Given the description of an element on the screen output the (x, y) to click on. 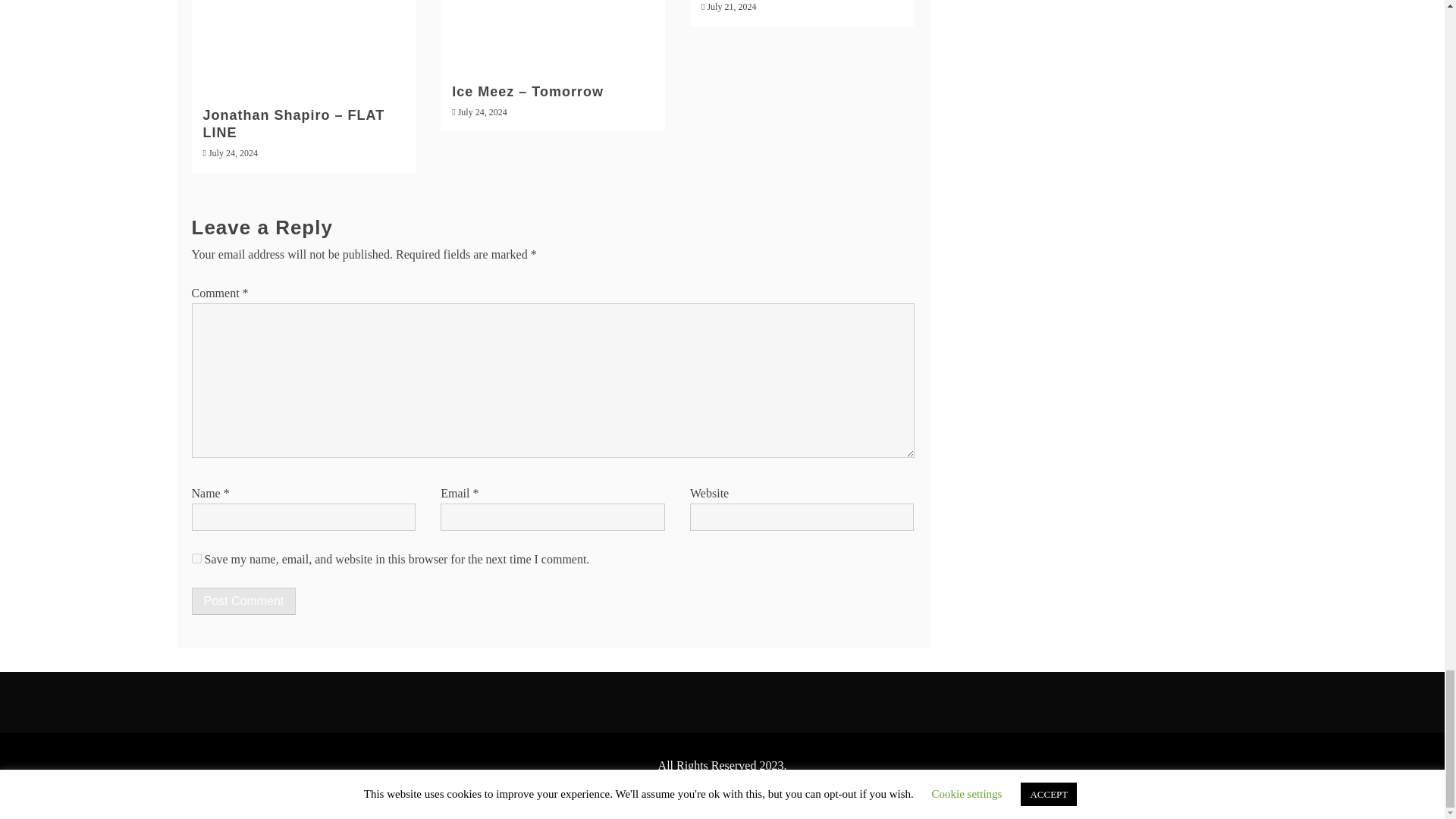
yes (195, 558)
Post Comment (242, 601)
